Given the description of an element on the screen output the (x, y) to click on. 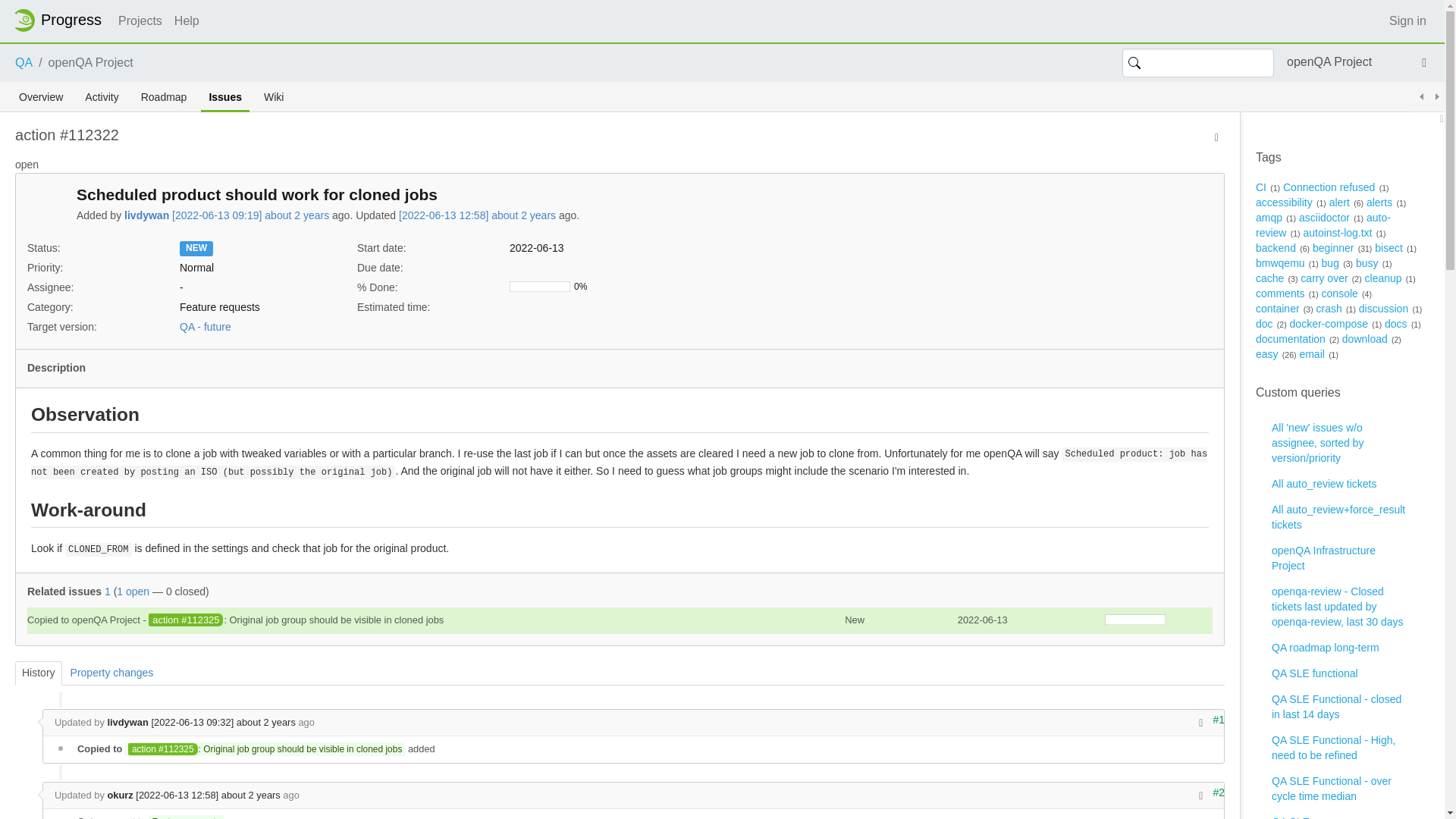
bisect (1388, 247)
auto-review (1322, 225)
alerts (1379, 202)
accessibility (1284, 202)
cleanup (1383, 277)
Issues (224, 96)
bmwqemu (1279, 263)
discussion (1382, 308)
Connection refused (1328, 186)
2022-06-13 12:58 (477, 215)
